Given the description of an element on the screen output the (x, y) to click on. 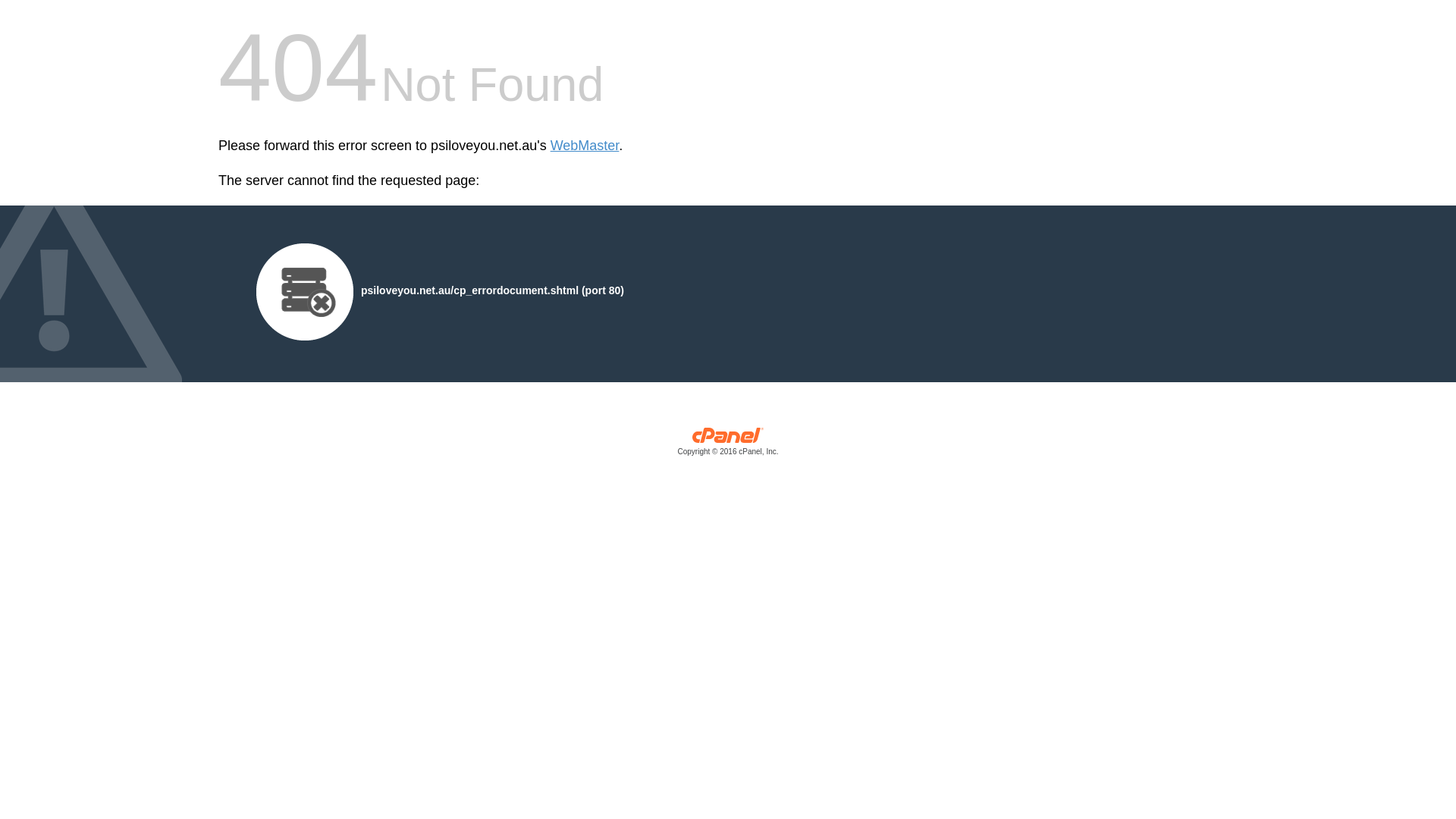
WebMaster Element type: text (584, 145)
